Given the description of an element on the screen output the (x, y) to click on. 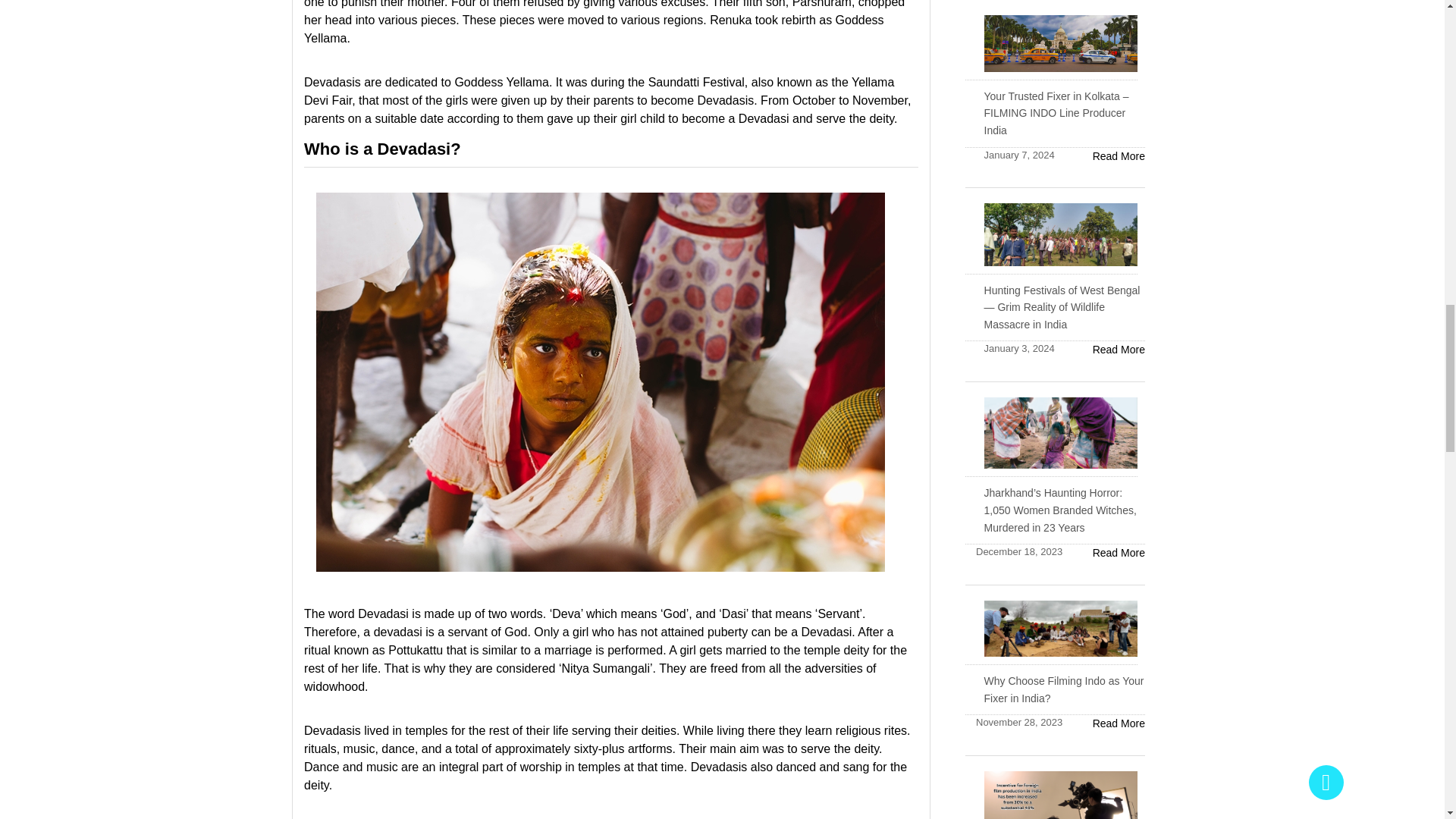
Why Choose Filming Indo as Your Fixer in India? (1054, 689)
